Given the description of an element on the screen output the (x, y) to click on. 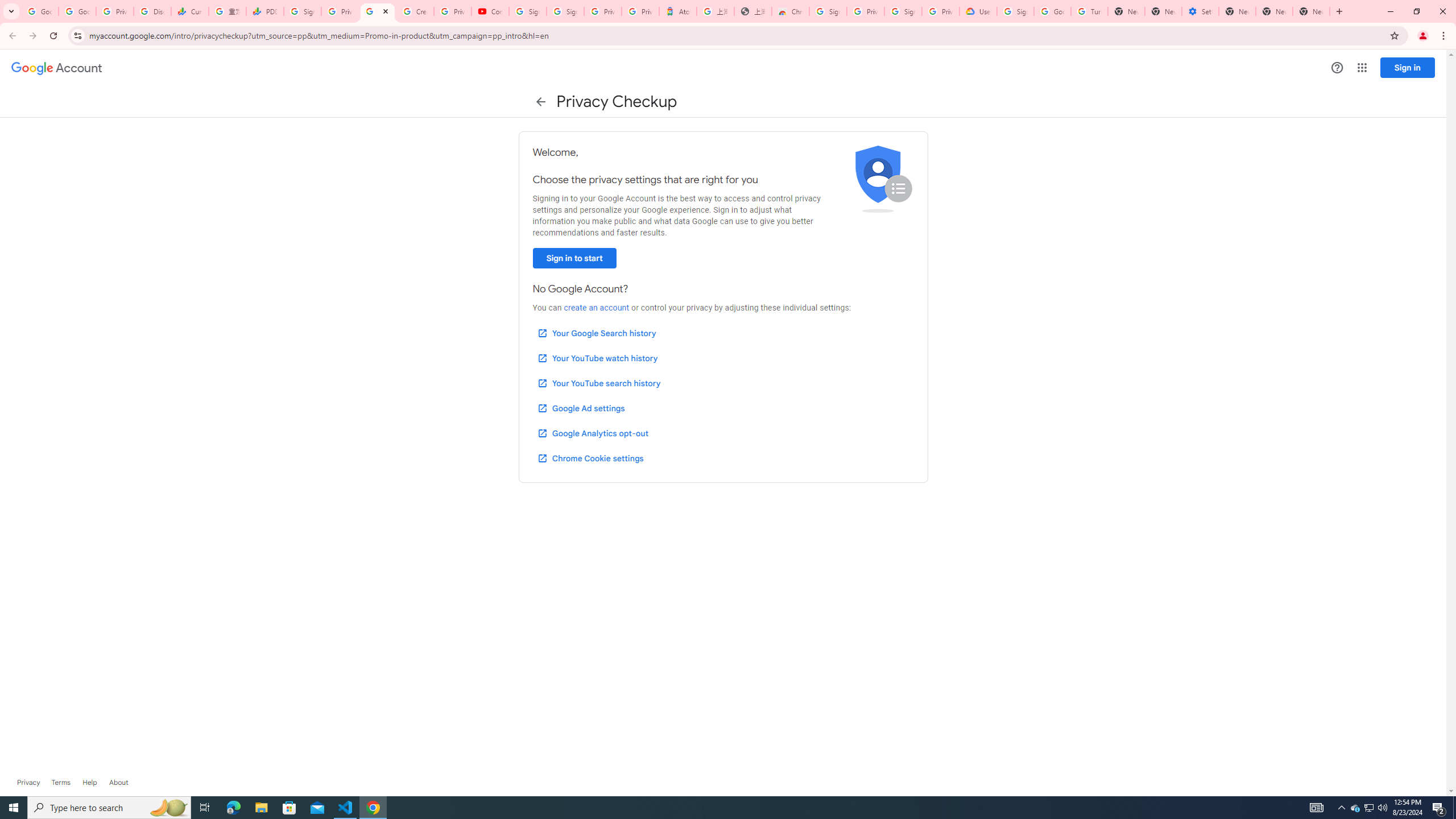
Sign in - Google Accounts (903, 11)
Privacy (28, 782)
Help (1336, 67)
Create your Google Account (415, 11)
New Tab (1311, 11)
Sign in - Google Accounts (1015, 11)
Sign in - Google Accounts (302, 11)
Sign in - Google Accounts (565, 11)
Terms (61, 782)
